Given the description of an element on the screen output the (x, y) to click on. 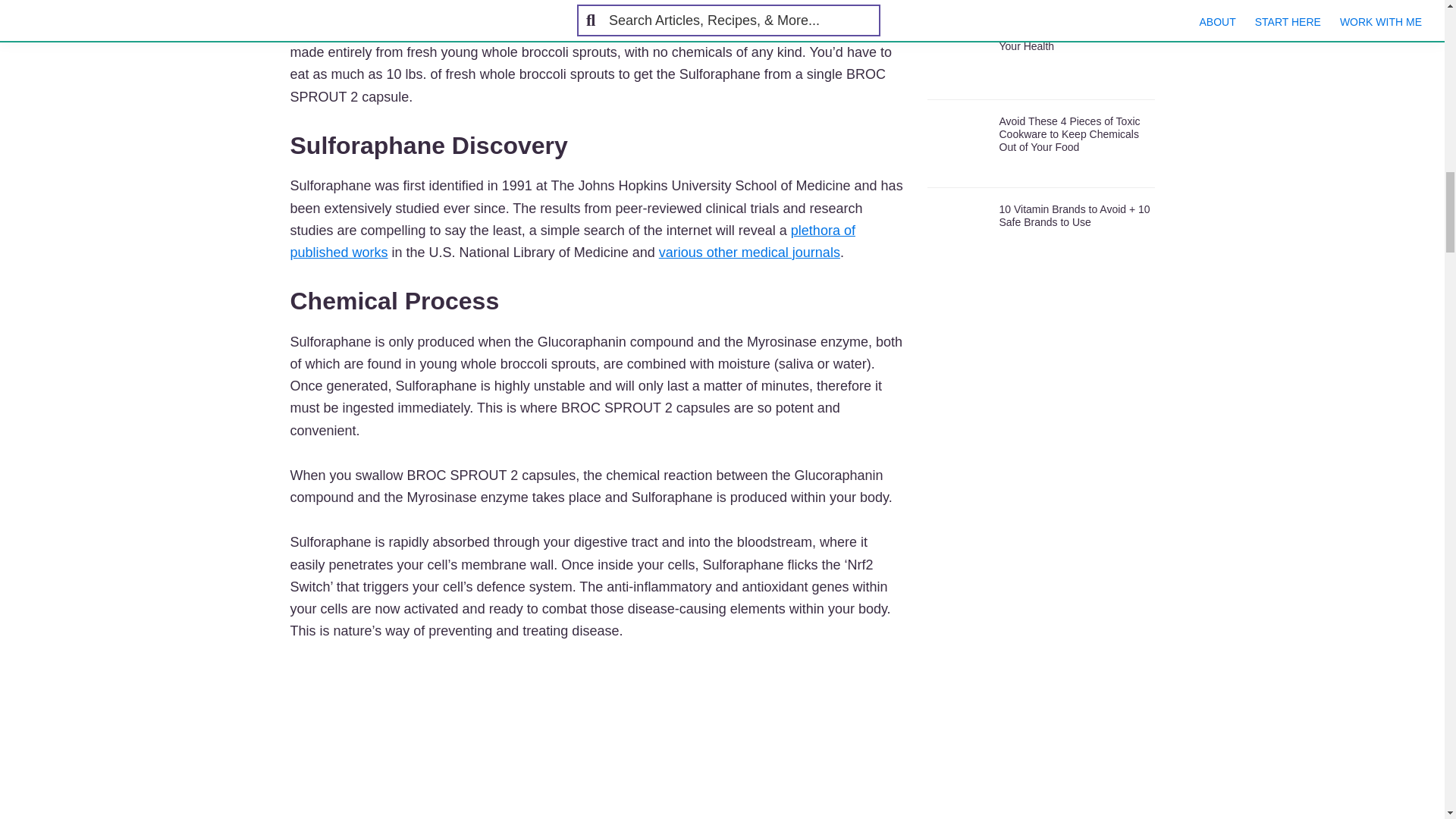
various other medical journals (749, 252)
plethora of published works (571, 241)
